Given the description of an element on the screen output the (x, y) to click on. 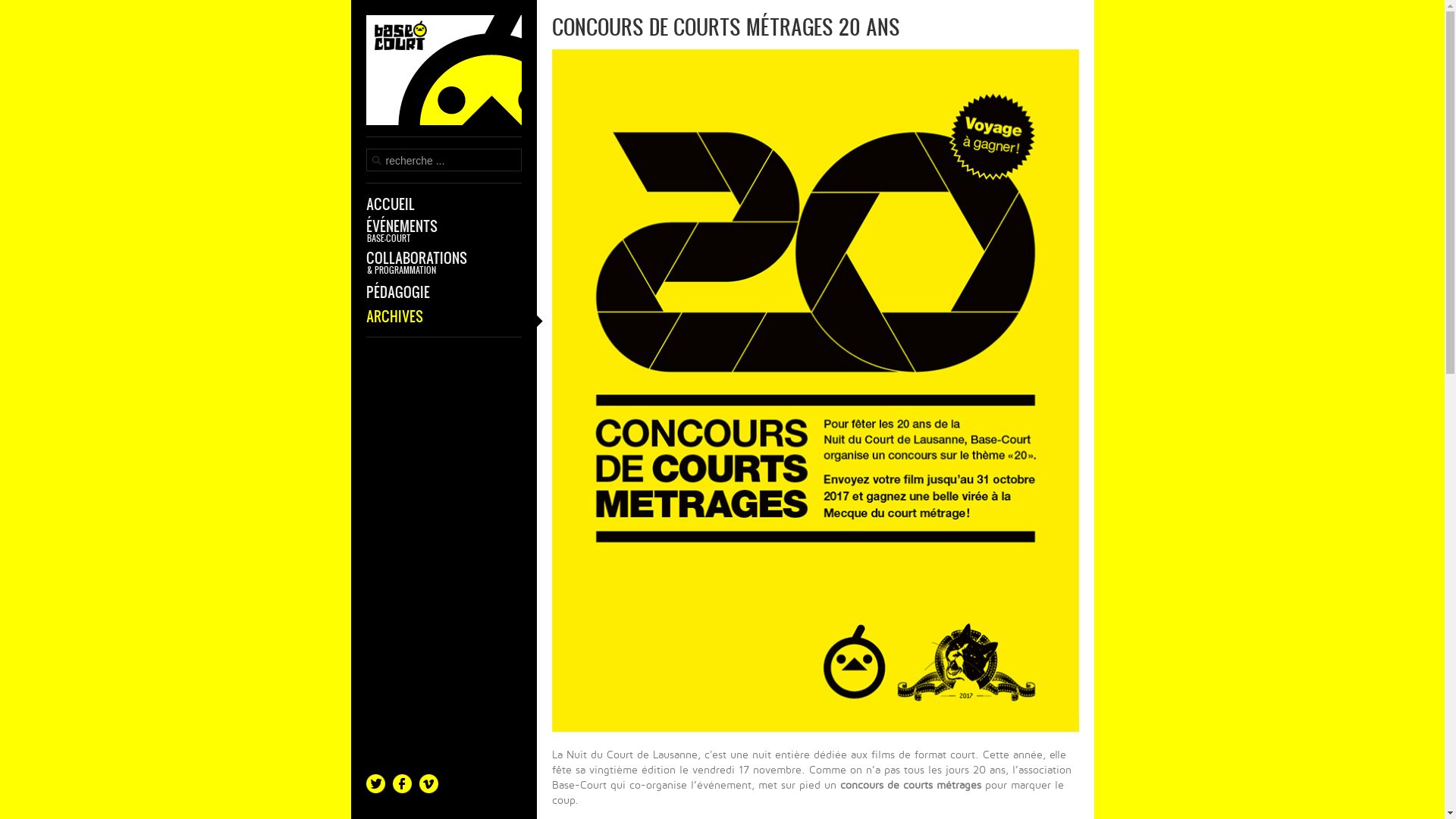
ACCUEIL Element type: text (442, 203)
COLLABORATIONS
& PROGRAMMATION Element type: text (442, 262)
Reset Element type: text (3, 3)
ARCHIVES Element type: text (442, 316)
  Element type: text (442, 76)
